Given the description of an element on the screen output the (x, y) to click on. 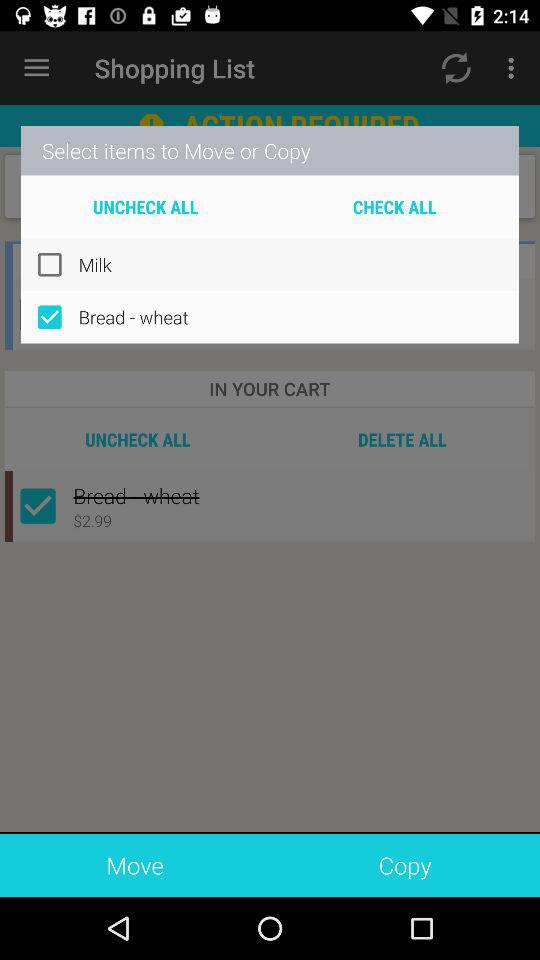
select the check all at the top right corner (394, 206)
